Given the description of an element on the screen output the (x, y) to click on. 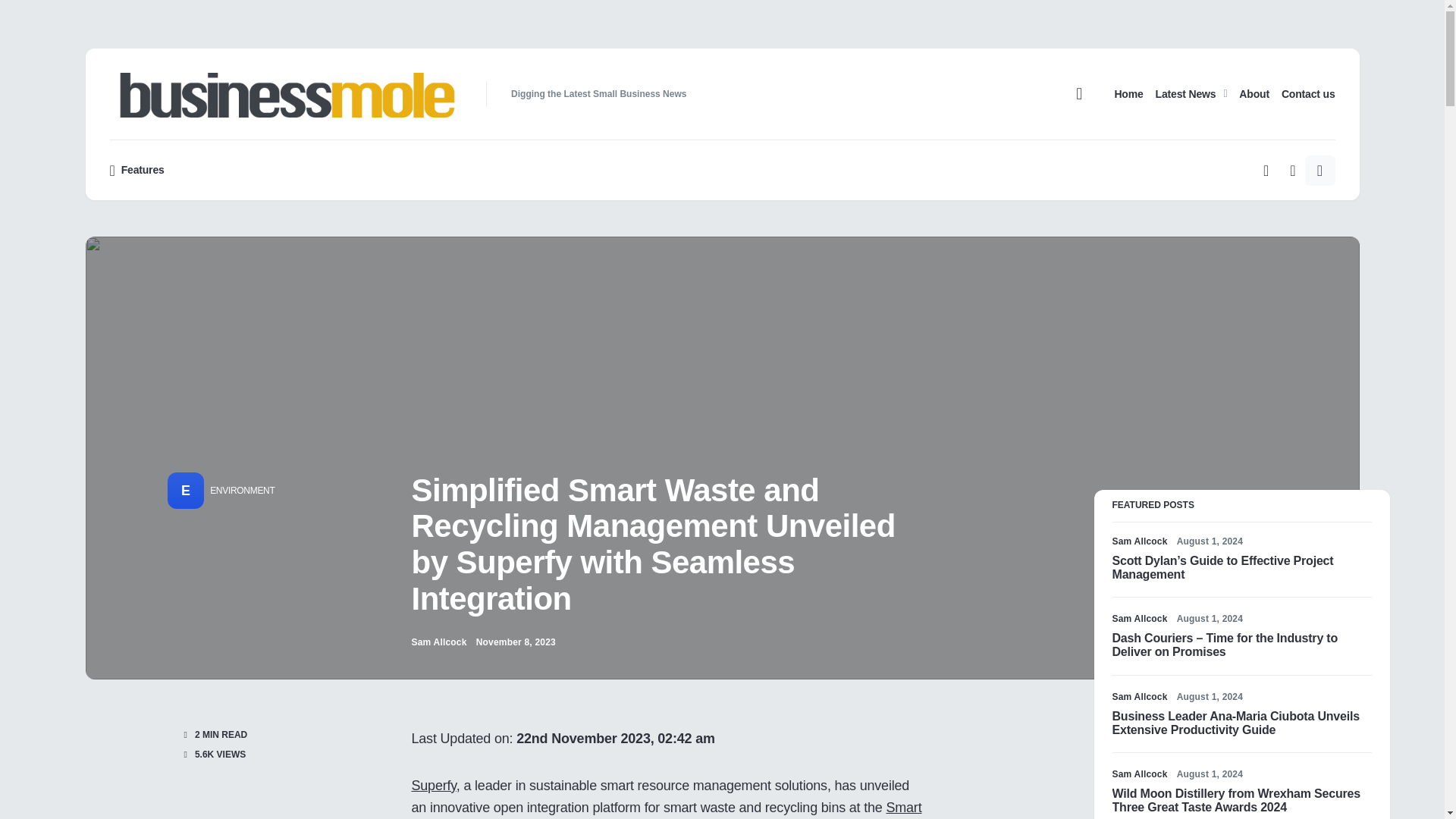
View all posts by Sam Allcock (1139, 540)
View all posts by Sam Allcock (1139, 774)
View all posts by Sam Allcock (437, 642)
Latest News (1191, 93)
View all posts by Sam Allcock (1139, 618)
View all posts by Sam Allcock (1139, 696)
